Given the description of an element on the screen output the (x, y) to click on. 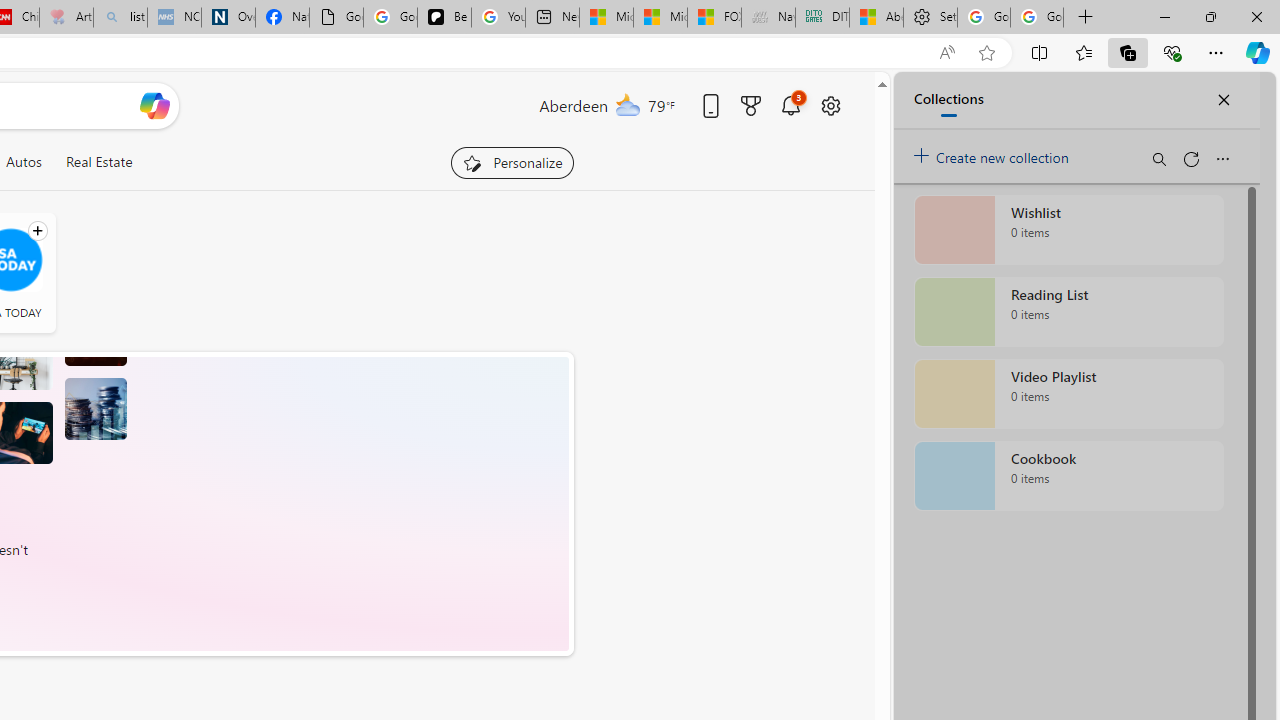
Personalize your feed" (511, 162)
DITOGAMES AG Imprint (822, 17)
Mostly cloudy (628, 104)
Open settings (830, 105)
Follow channel (37, 231)
